Given the description of an element on the screen output the (x, y) to click on. 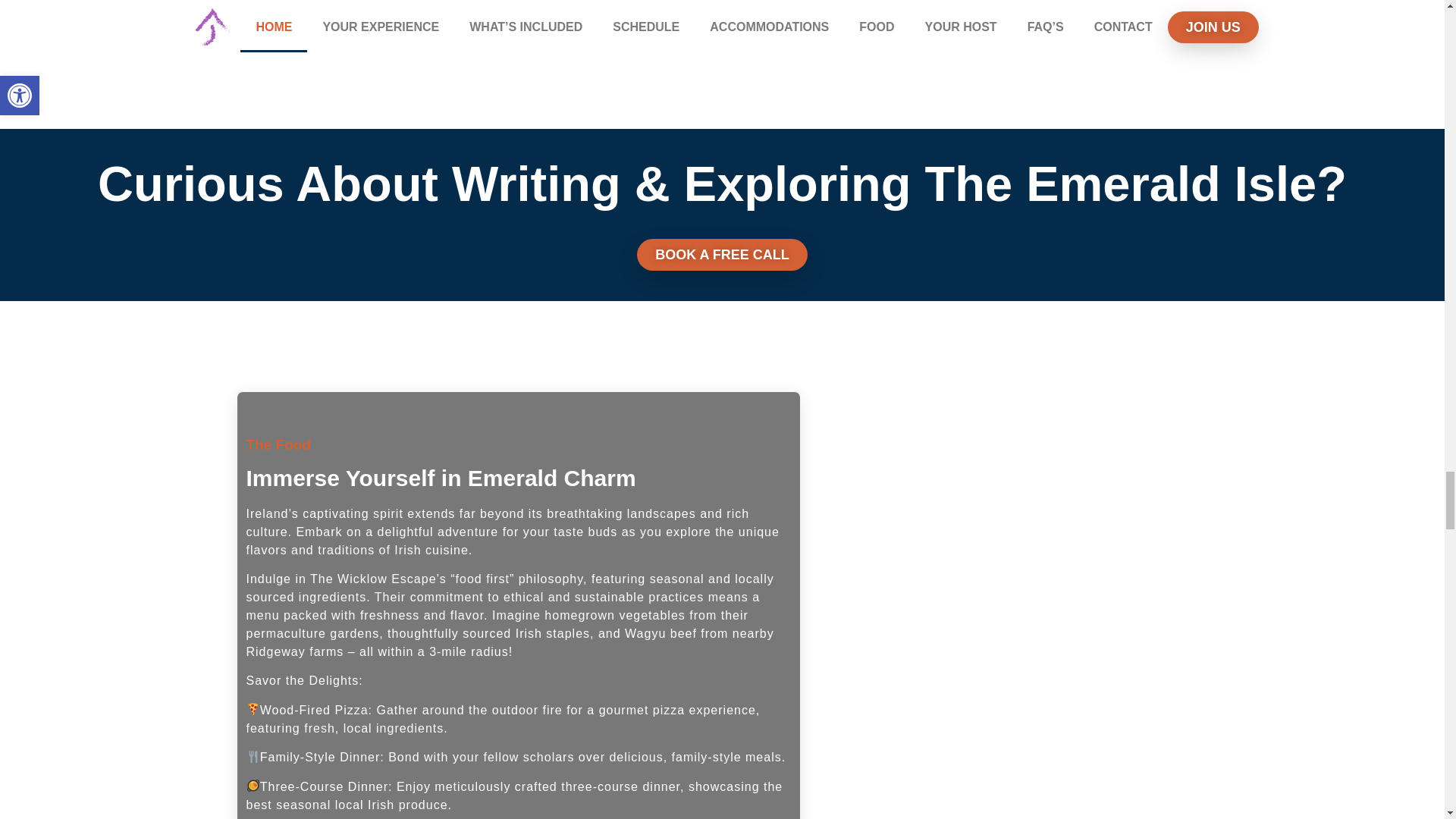
vimeo Video Player (360, 24)
